Given the description of an element on the screen output the (x, y) to click on. 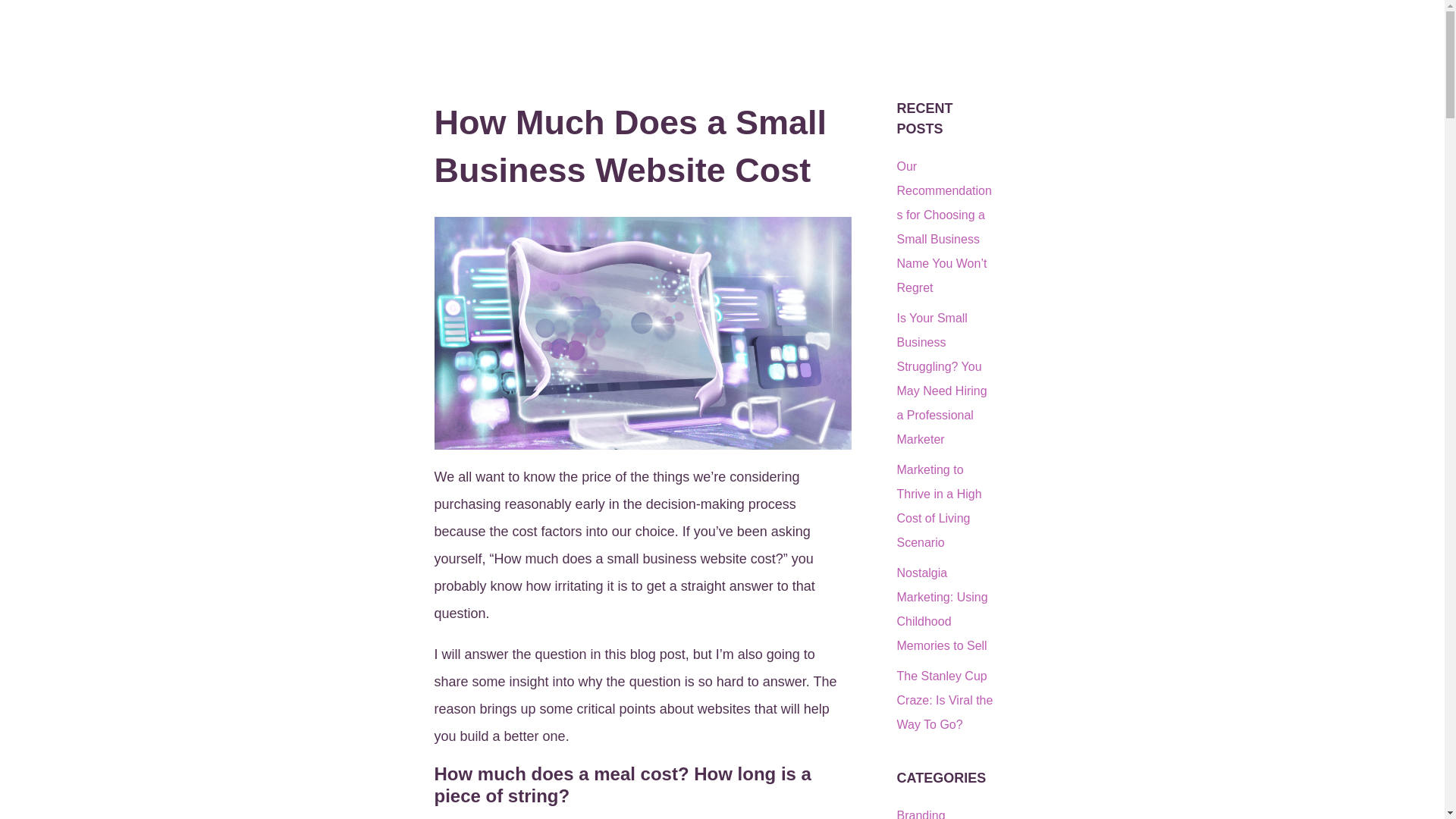
Nostalgia Marketing: Using Childhood Memories to Sell (941, 608)
Marketing to Thrive in a High Cost of Living Scenario (938, 505)
Branding (920, 814)
The Stanley Cup Craze: Is Viral the Way To Go? (944, 700)
